Given the description of an element on the screen output the (x, y) to click on. 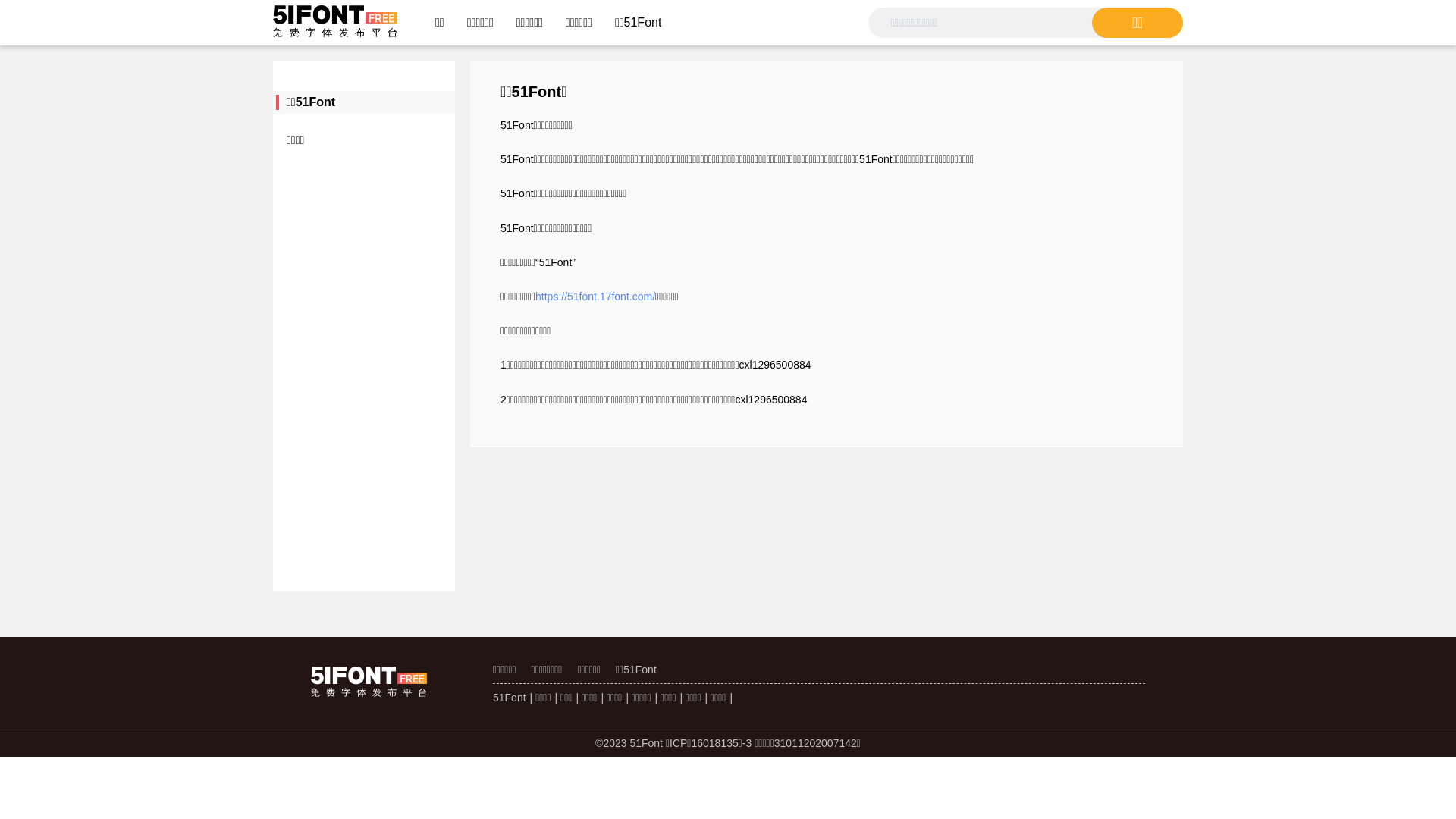
https://51font.17font.com/ Element type: text (595, 296)
51Font Element type: text (509, 697)
